Given the description of an element on the screen output the (x, y) to click on. 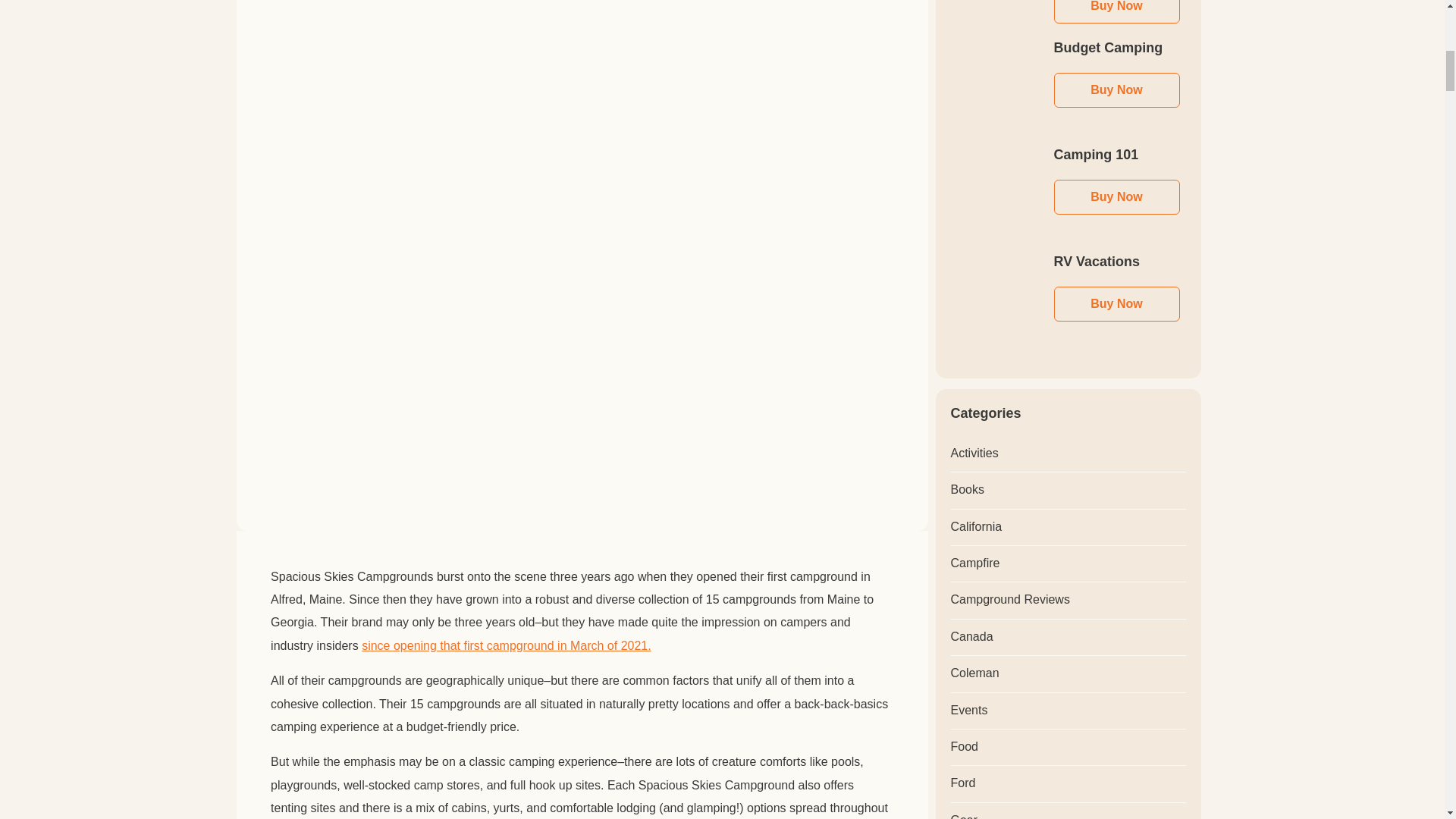
since opening that first campground in March of 2021. (505, 645)
